Given the description of an element on the screen output the (x, y) to click on. 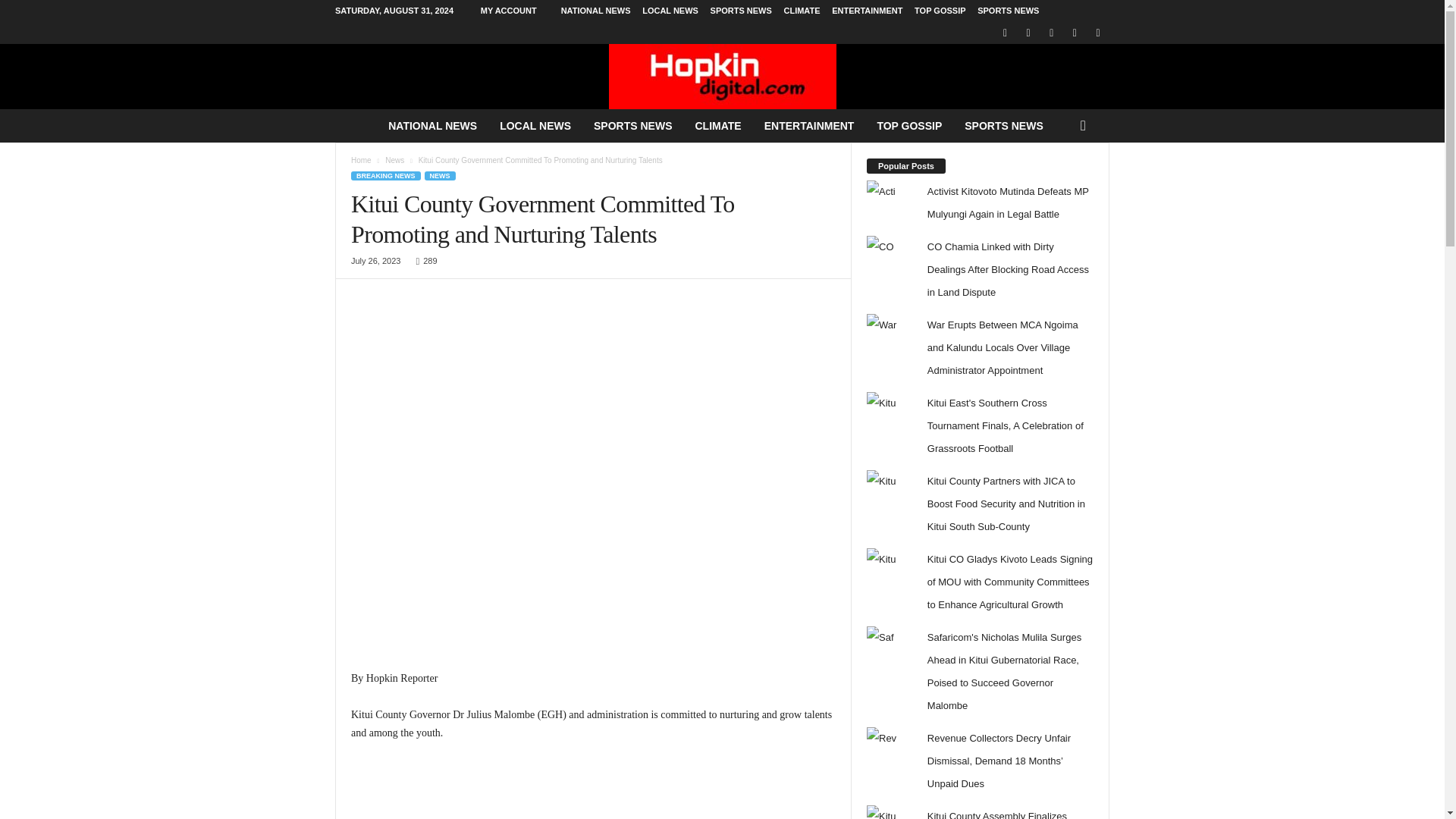
LOCAL NEWS (534, 125)
SPORTS NEWS (1007, 10)
CLIMATE (801, 10)
THE FUTURE IS DIGITAL (721, 76)
SPORTS NEWS (740, 10)
NATIONAL NEWS (595, 10)
TOP GOSSIP (939, 10)
LOCAL NEWS (670, 10)
ENTERTAINMENT (866, 10)
View all posts in News (394, 160)
